Given the description of an element on the screen output the (x, y) to click on. 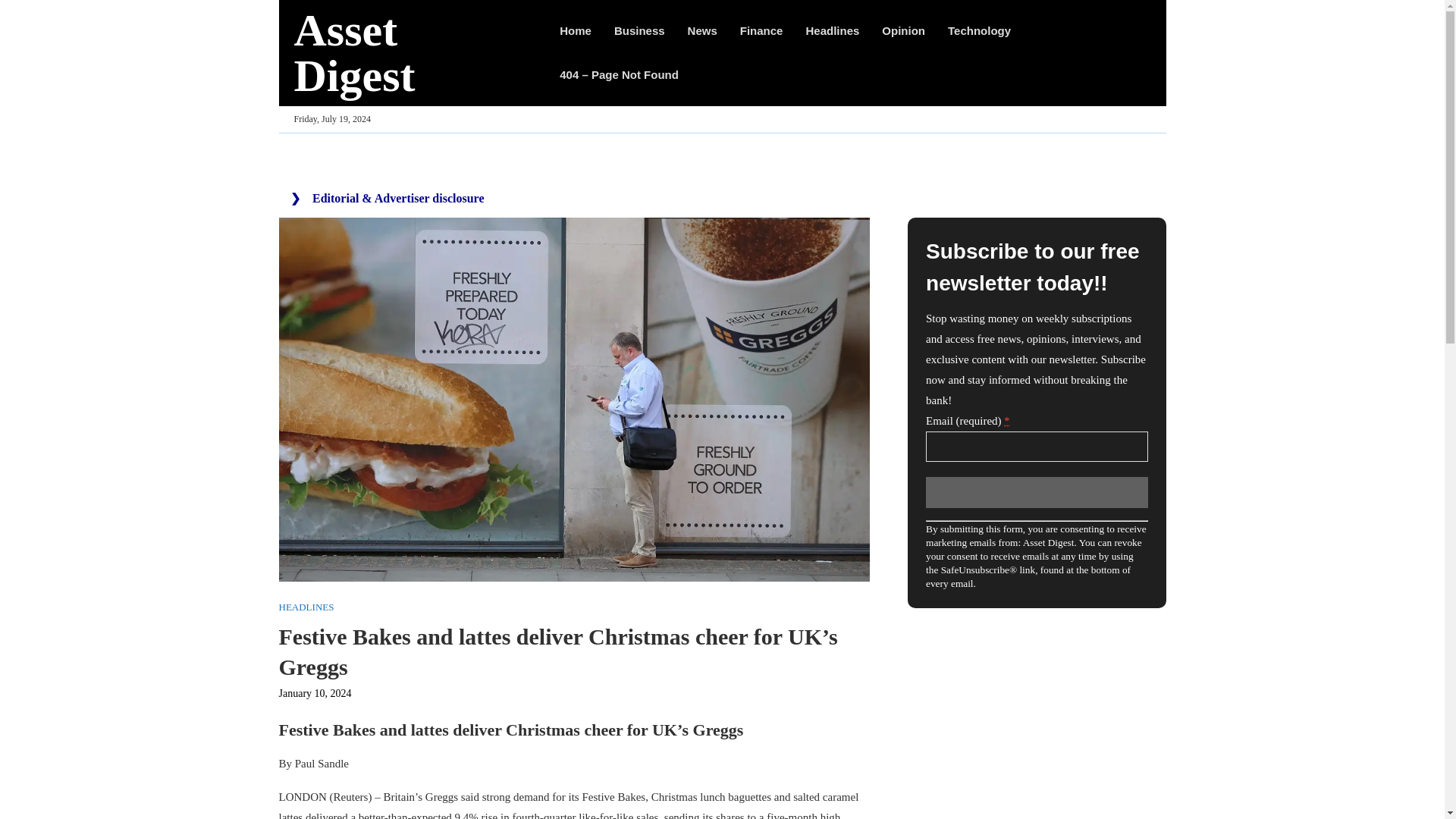
Business (639, 31)
Business (639, 31)
Asset Digest (411, 52)
Headlines (832, 31)
Technology (978, 31)
Finance (761, 31)
HEADLINES (306, 607)
Opinion (903, 31)
Sign up for free! (1036, 491)
